Given the description of an element on the screen output the (x, y) to click on. 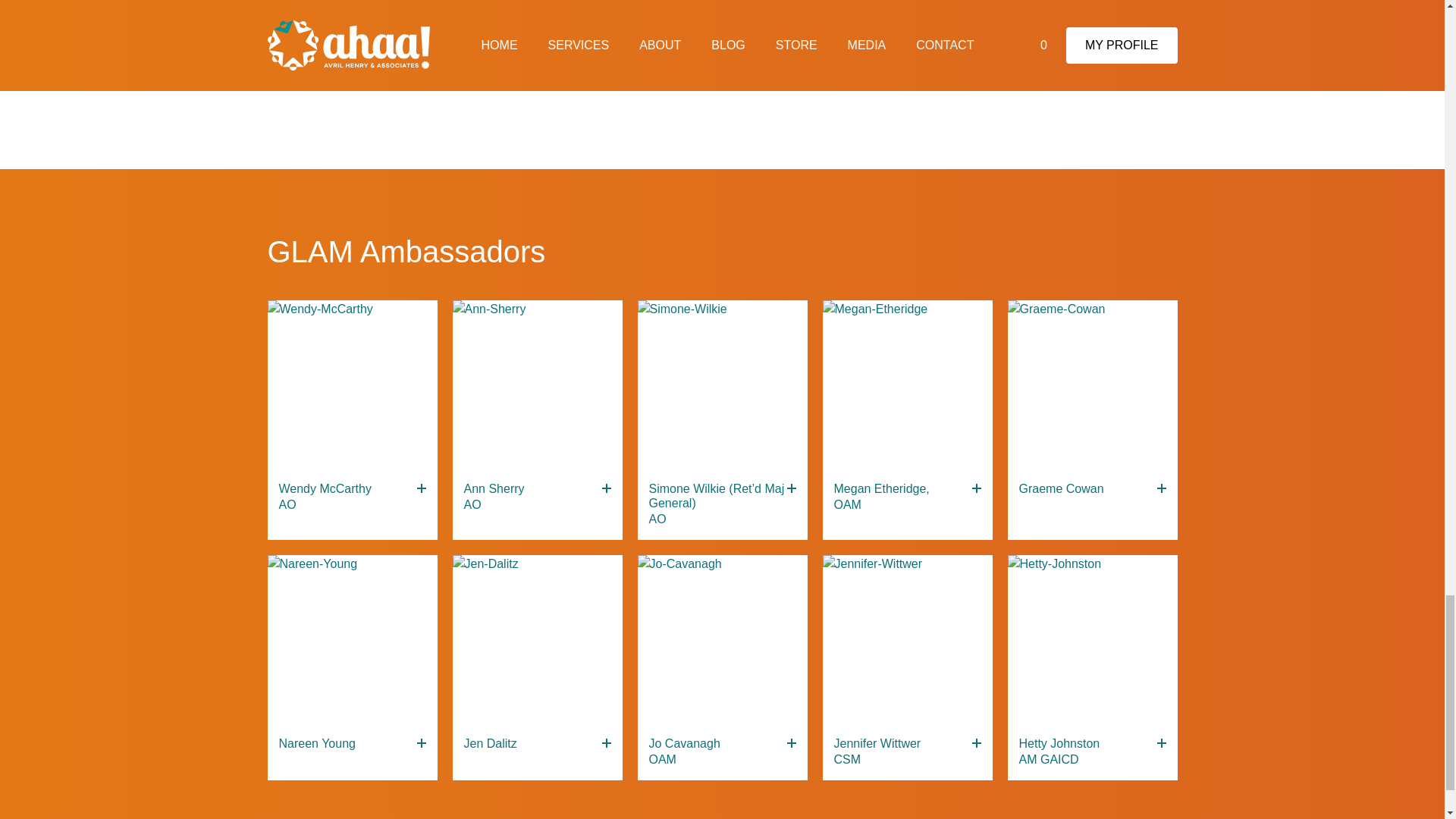
Jen-Dalitz (536, 639)
Ann-Sherry (536, 385)
YouTube video player (721, 55)
Simone-Wilkie (721, 385)
Megan-Etheridge (906, 385)
Graeme-Cowan (1091, 385)
Jennifer-Wittwer (906, 639)
Nareen-Young (351, 639)
Jo-Cavanagh (721, 639)
Wendy-McCarthy (351, 385)
